Given the description of an element on the screen output the (x, y) to click on. 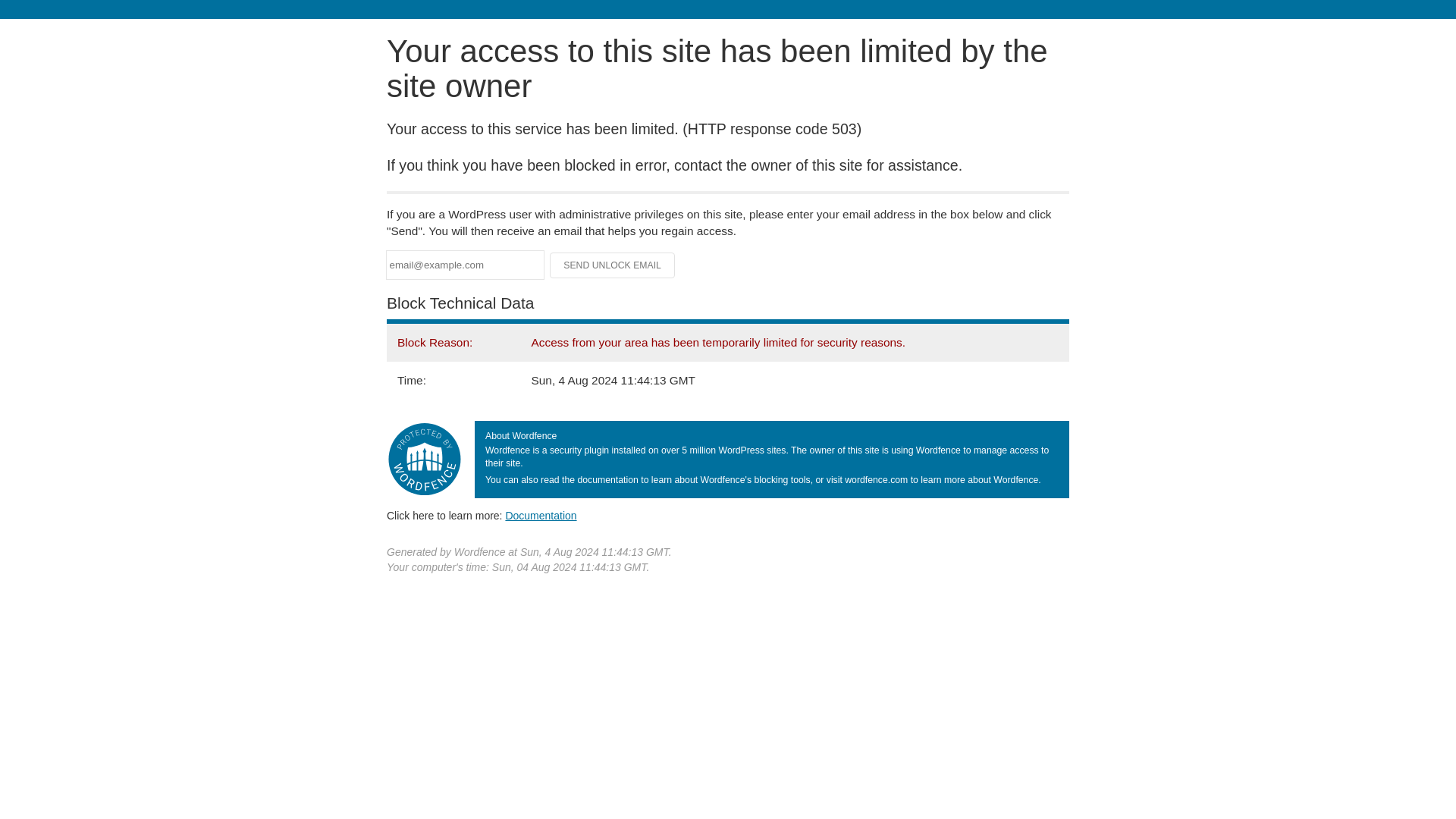
Documentation (540, 515)
Send Unlock Email (612, 265)
Send Unlock Email (612, 265)
